Given the description of an element on the screen output the (x, y) to click on. 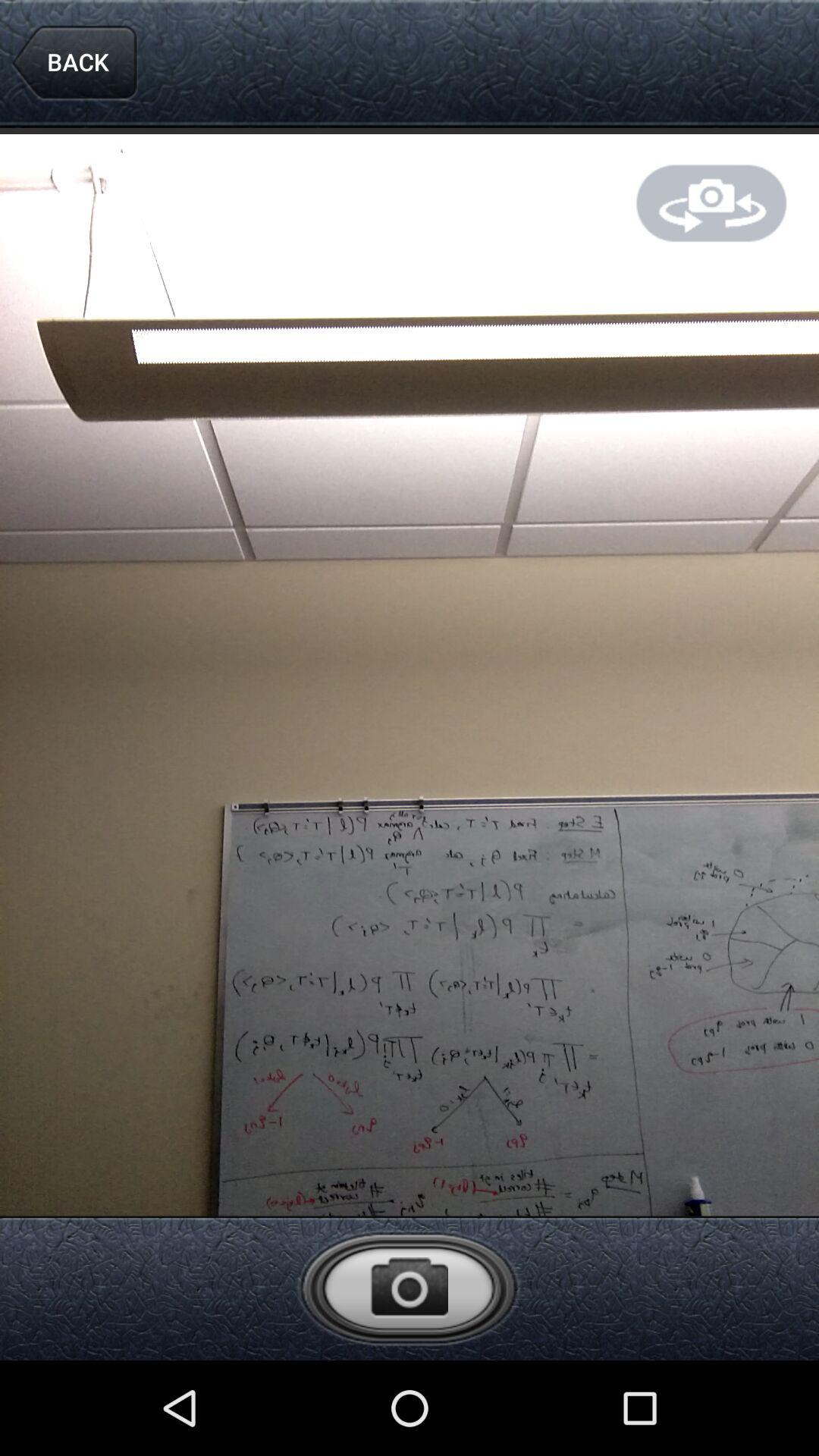
click camera option (409, 1287)
